Given the description of an element on the screen output the (x, y) to click on. 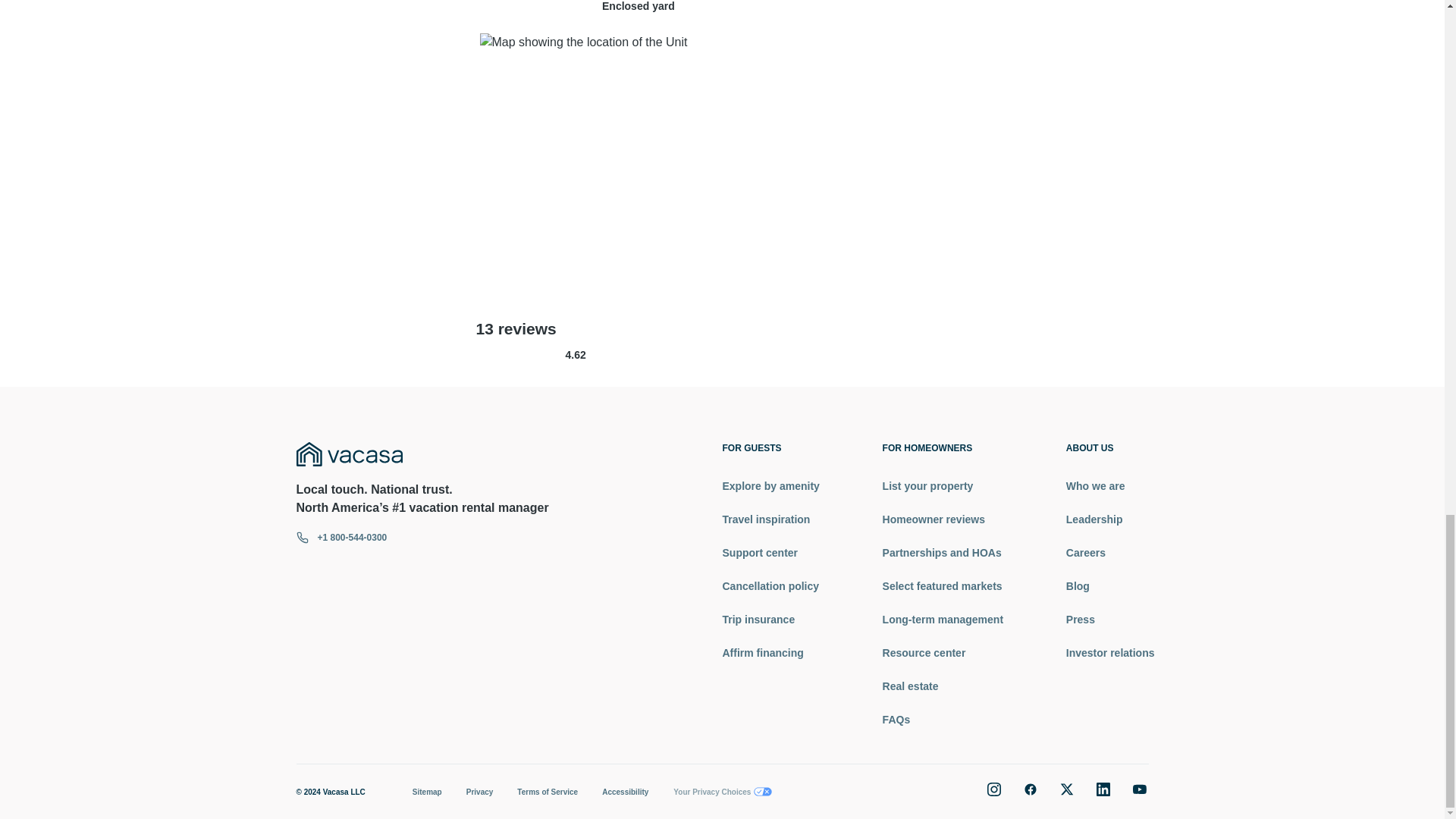
Trip insurance (770, 619)
Support center (770, 552)
Travel inspiration (770, 519)
Partnerships and HOAs (942, 552)
Blog (1109, 585)
Affirm financing (770, 652)
Resource center (942, 652)
Sitemap (427, 791)
Explore by amenity (770, 485)
Real estate (942, 685)
